Given the description of an element on the screen output the (x, y) to click on. 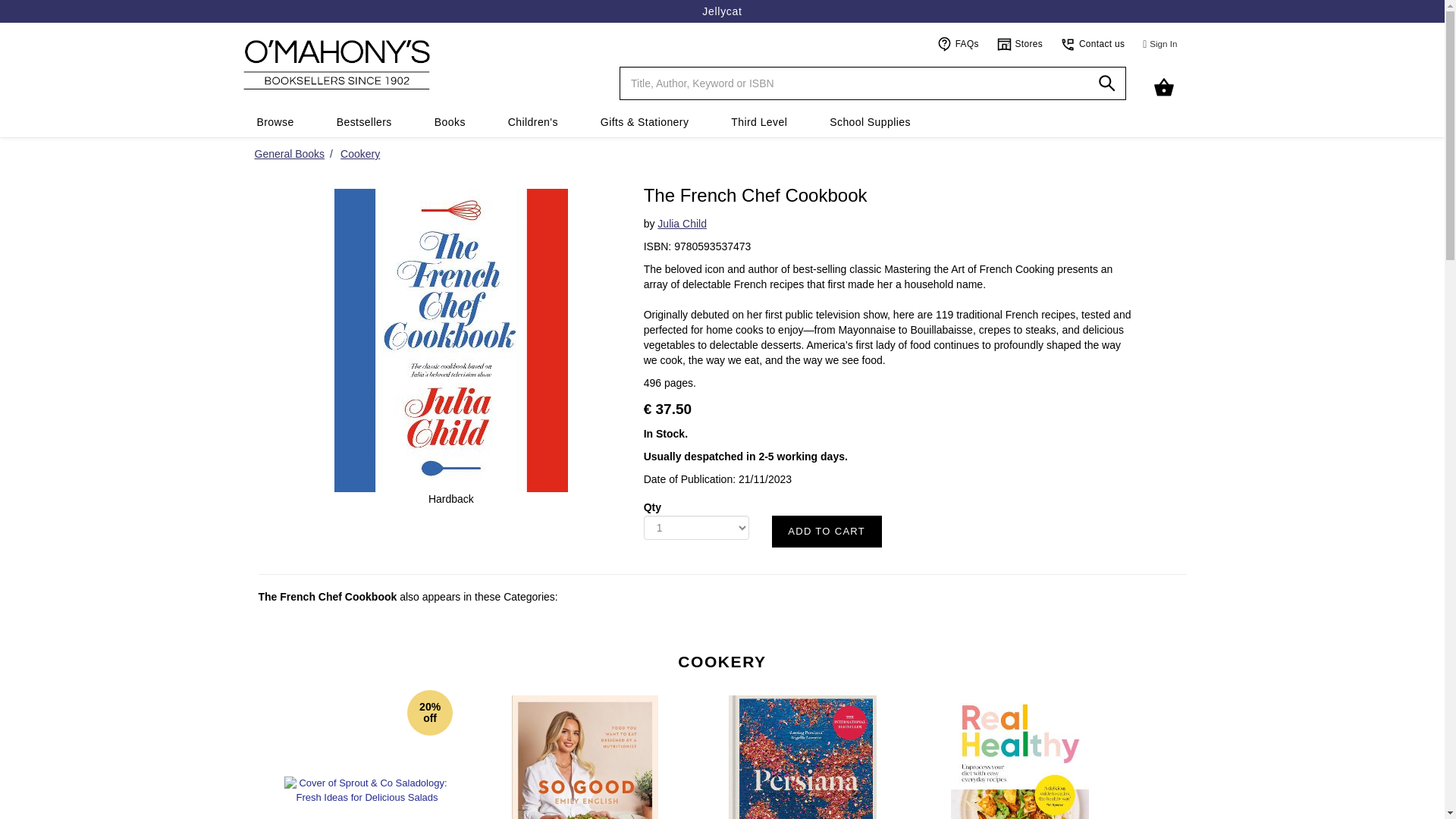
Sign In (1160, 43)
FAQs (957, 43)
Browse (275, 122)
See more about So Good by Emily English (584, 748)
Contact us (1092, 43)
Minimal - go to homepage (415, 64)
Stores (1020, 43)
